Given the description of an element on the screen output the (x, y) to click on. 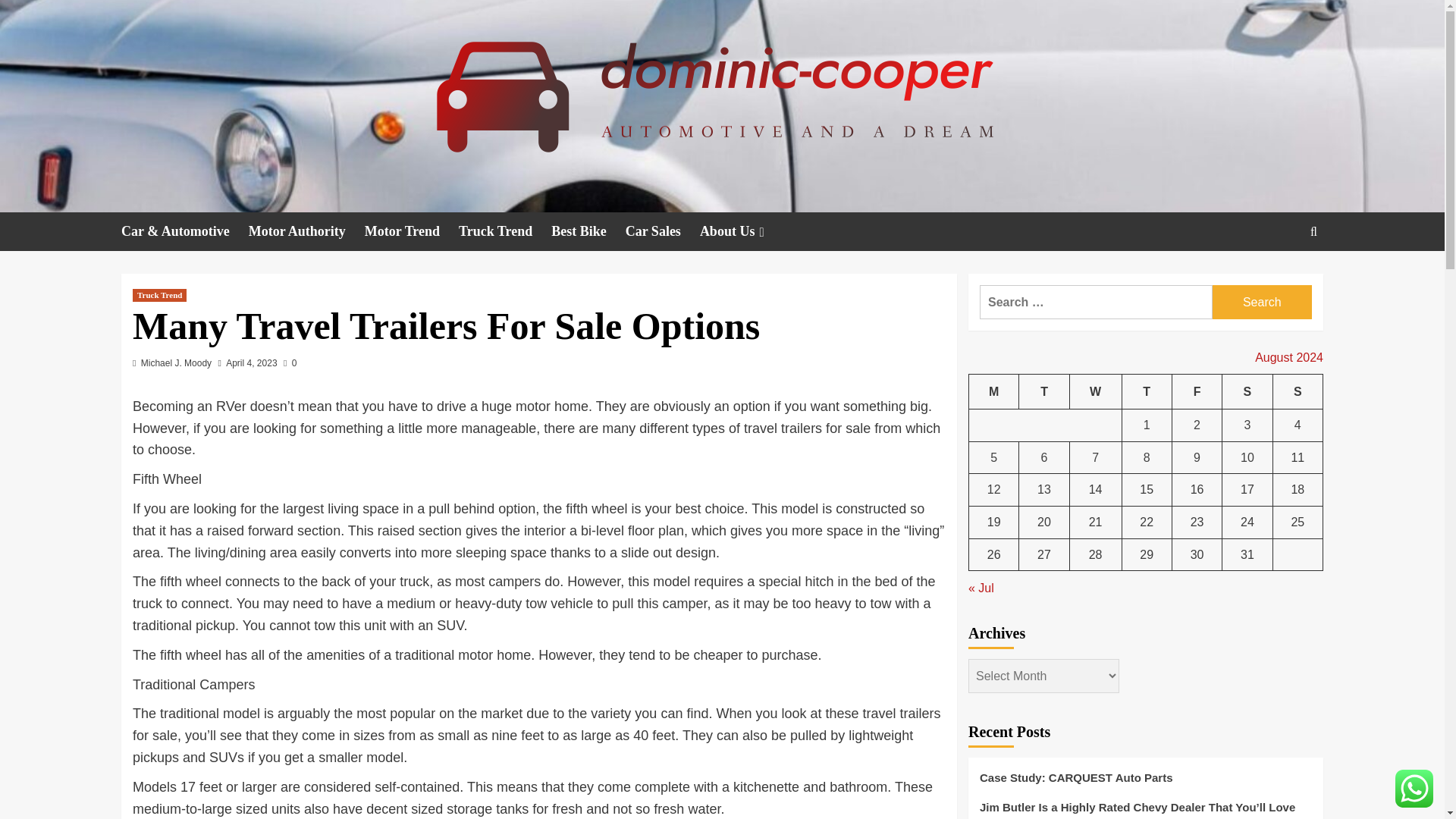
Car Sales (663, 231)
Thursday (1146, 391)
Tuesday (1043, 391)
0 (290, 362)
Truck Trend (504, 231)
Motor Authority (306, 231)
Saturday (1247, 391)
Friday (1196, 391)
Search (1261, 302)
Best Bike (588, 231)
